Given the description of an element on the screen output the (x, y) to click on. 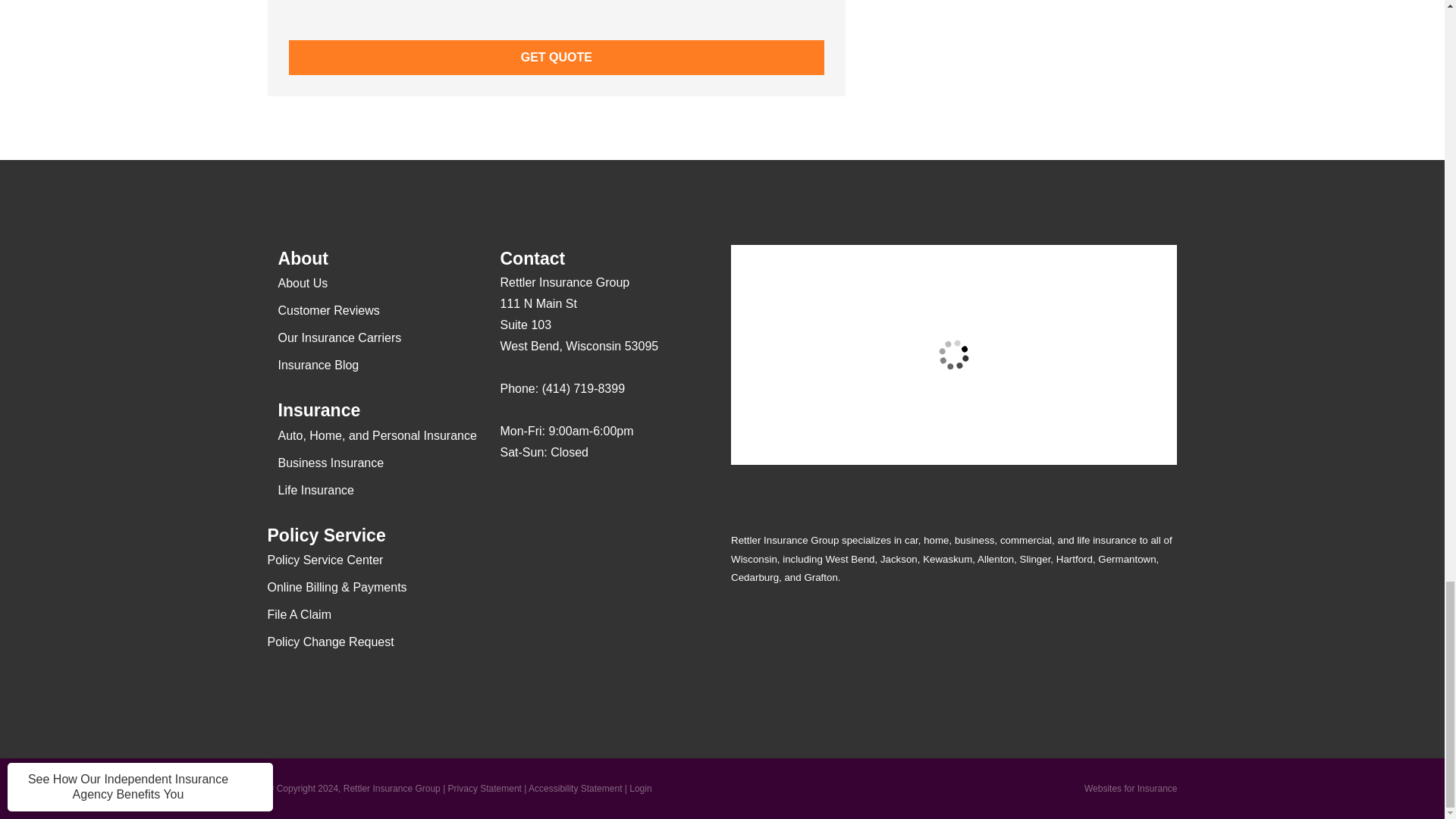
Yelp (541, 497)
Google Maps (511, 497)
Get Quote (556, 57)
Local Erie Insurance Agent (593, 590)
LinkedIn (600, 497)
Facebook (571, 497)
